Given the description of an element on the screen output the (x, y) to click on. 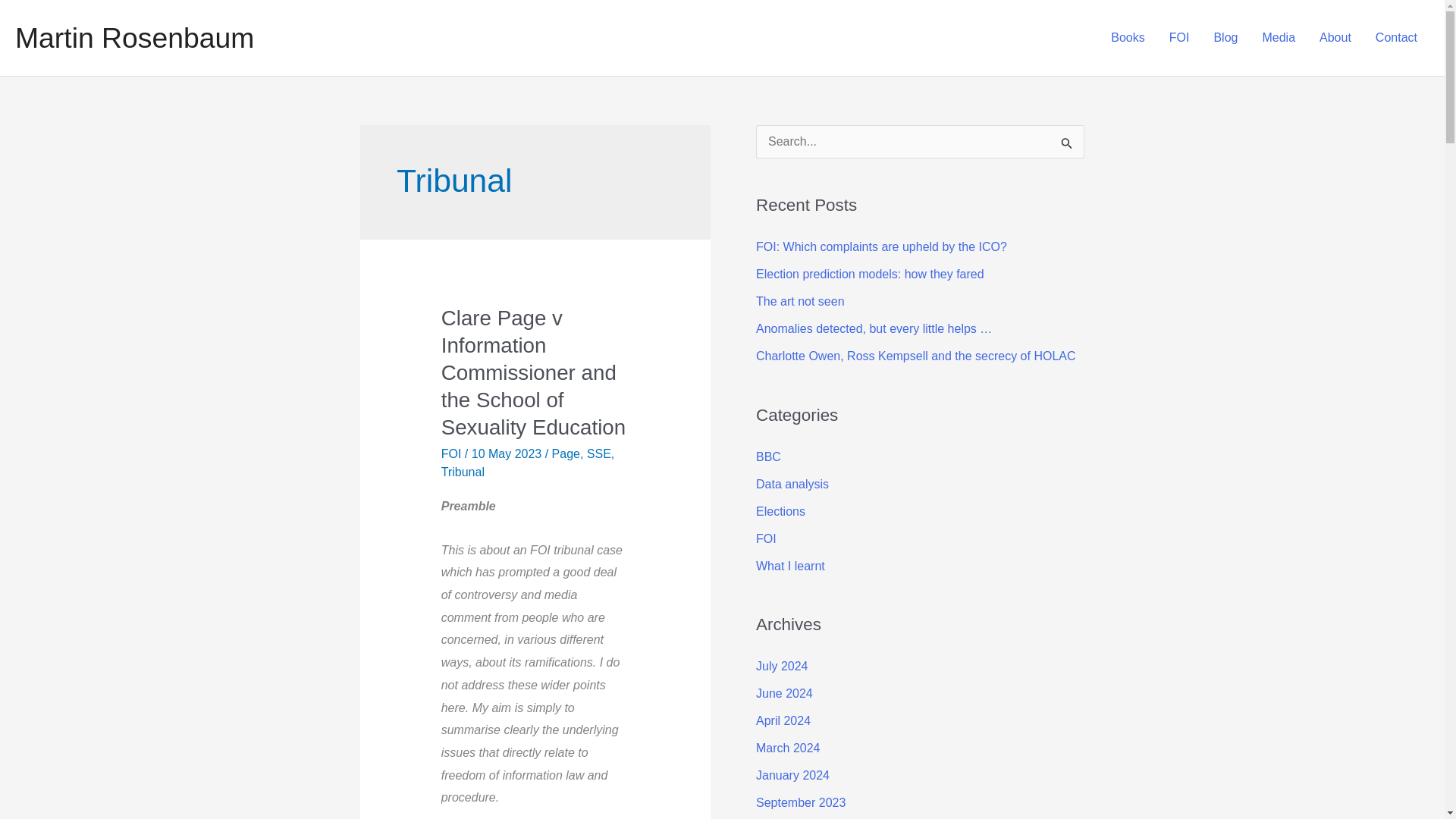
Martin Rosenbaum (133, 38)
Search (1066, 146)
FOI: Which complaints are upheld by the ICO? (881, 246)
FOI (765, 538)
Search (1066, 146)
Charlotte Owen, Ross Kempsell and the secrecy of HOLAC (915, 355)
Elections (780, 511)
Tribunal (462, 472)
Election prediction models: how they fared (869, 273)
SSE (598, 453)
FOI (451, 453)
The art not seen (799, 300)
Contact (1395, 38)
Page (565, 453)
